Given the description of an element on the screen output the (x, y) to click on. 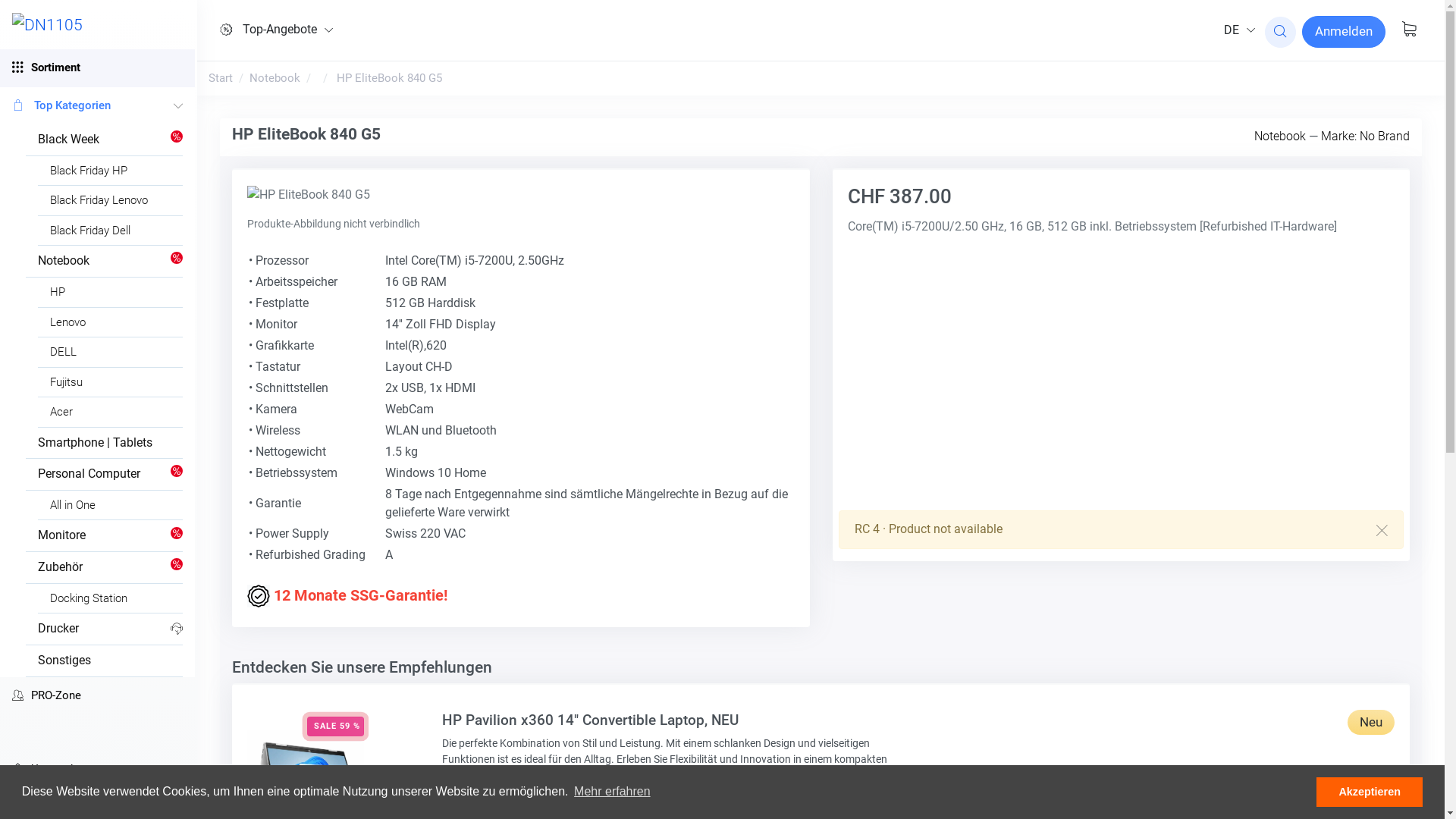
Fujitsu Element type: text (109, 382)
DE Element type: text (1236, 30)
HP EliteBook 840 G5 Element type: hover (308, 194)
Monitore Element type: text (103, 535)
HP EliteBook 840 G5 Element type: text (389, 77)
Black Friday Lenovo Element type: text (109, 200)
Drucker Element type: text (103, 628)
Anmelden Element type: text (1343, 31)
HP Element type: text (109, 292)
Smartphone | Tablets Element type: text (103, 442)
Docking Station Element type: text (109, 598)
Notebook Element type: text (274, 77)
Anmelden Element type: text (1343, 31)
Lenovo Element type: text (109, 322)
Sonstiges Element type: text (103, 660)
Akzeptieren Element type: text (1369, 791)
Notebook Element type: text (103, 260)
Mehr erfahren Element type: text (611, 791)
DELL Element type: text (109, 352)
Marke: No Brand Element type: text (1365, 135)
Acer Element type: text (109, 411)
Top Kategorien Element type: text (97, 105)
Black Friday HP Element type: text (109, 170)
Black Friday Dell Element type: text (109, 230)
Unternehmen Element type: text (97, 768)
All in One Element type: text (109, 505)
Personal Computer Element type: text (103, 473)
Notebook Element type: text (1279, 135)
Sortiment Element type: text (97, 67)
Black Week Element type: text (103, 139)
PRO-Zone Element type: text (97, 695)
Start Element type: text (220, 77)
